Given the description of an element on the screen output the (x, y) to click on. 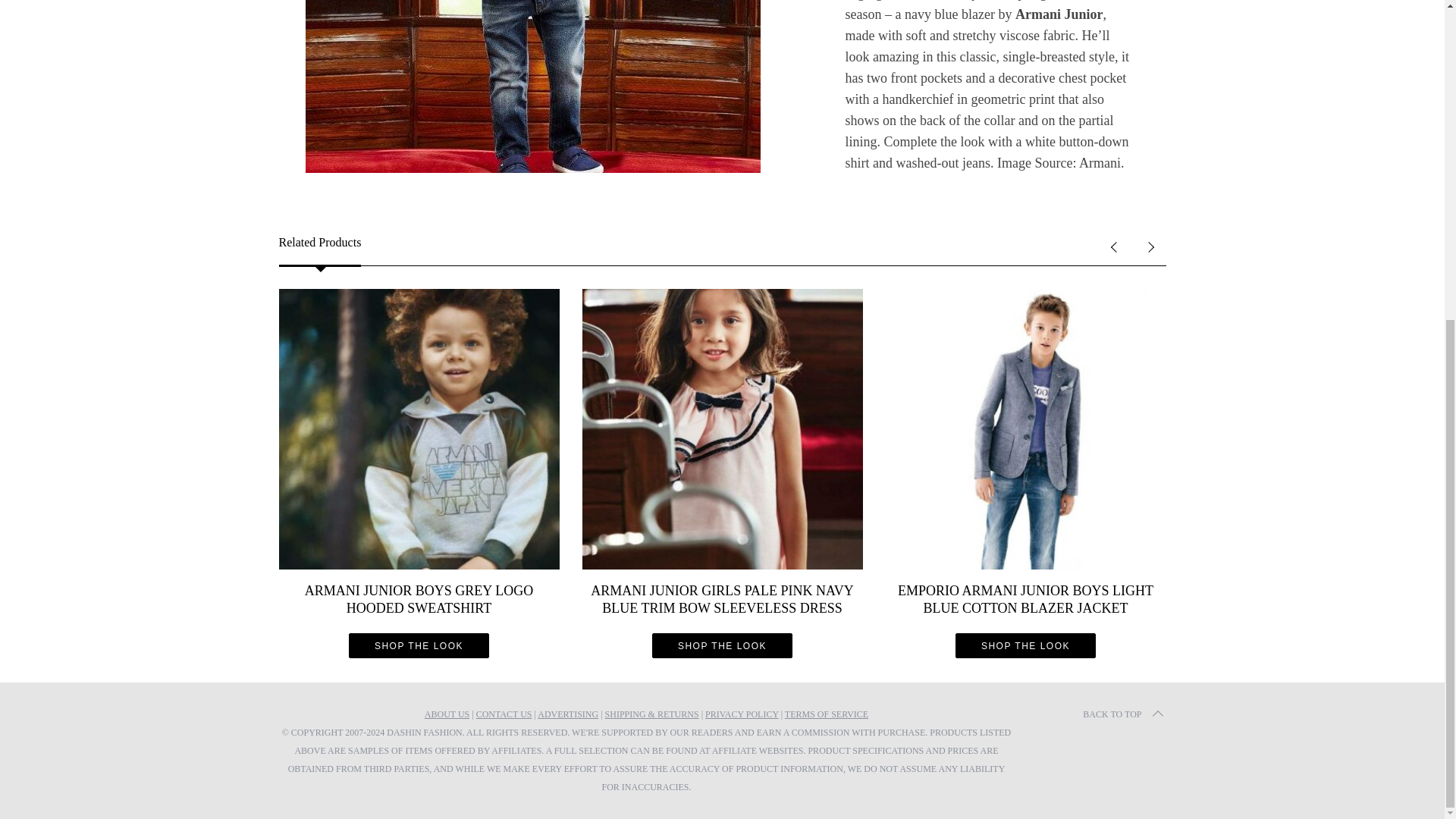
ARMANI JUNIOR Boys Navy Blue Jersey Blazer look (532, 86)
